Given the description of an element on the screen output the (x, y) to click on. 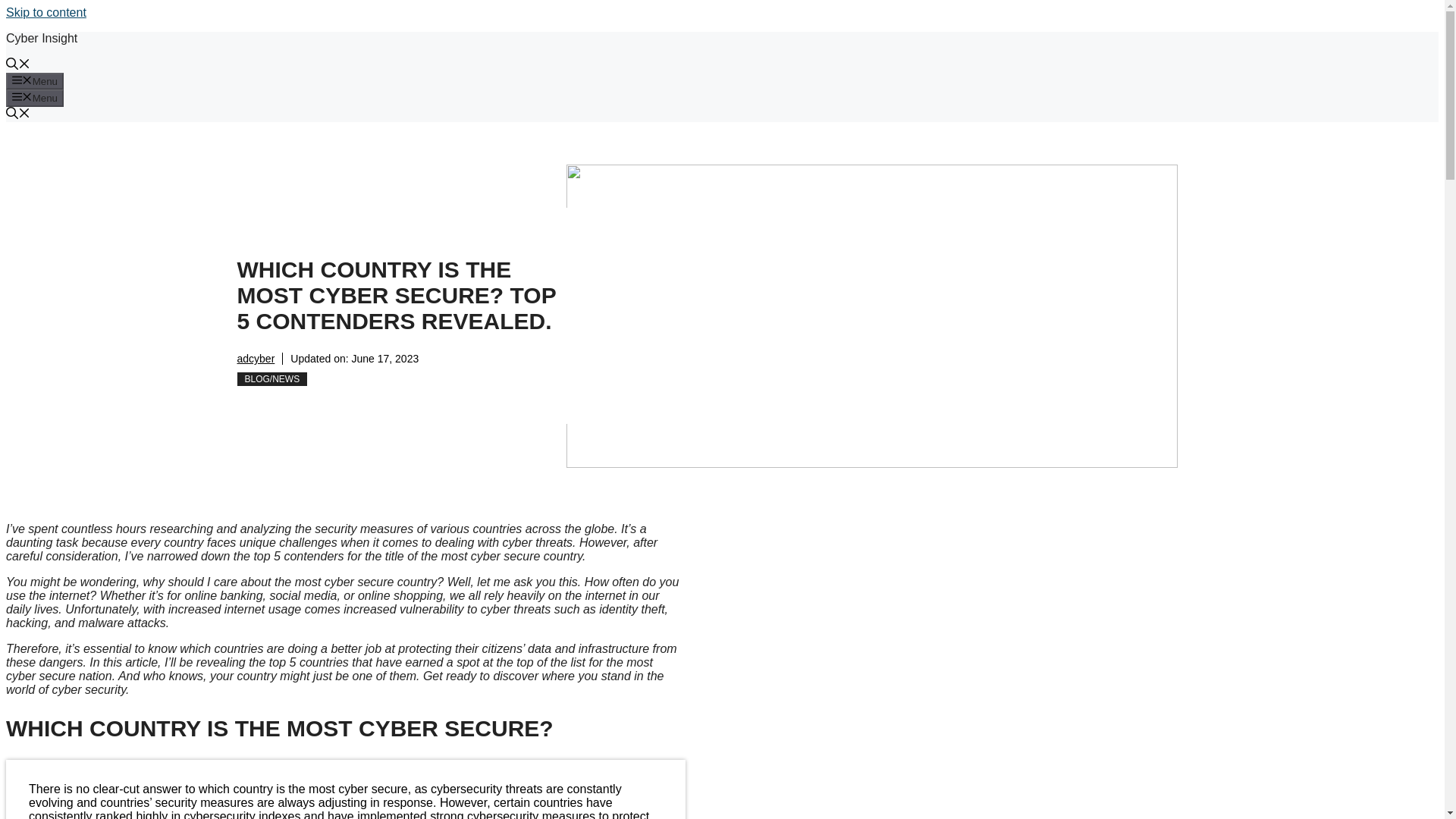
adcyber (255, 358)
Menu (34, 97)
Cyber Insight (41, 38)
Menu (34, 80)
Skip to content (45, 11)
Skip to content (45, 11)
